Given the description of an element on the screen output the (x, y) to click on. 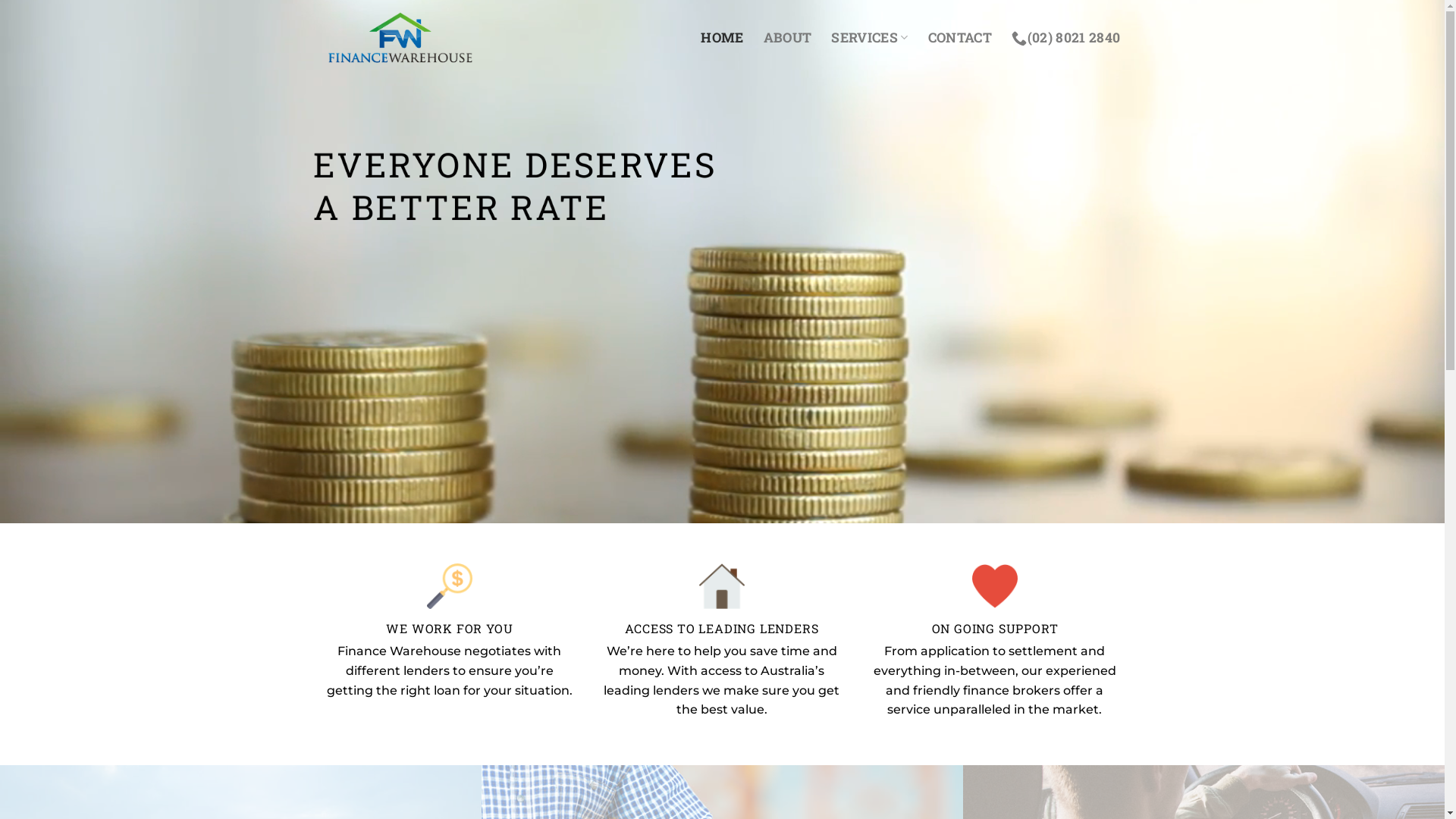
(02) 8021 2840 Element type: text (1065, 37)
SERVICES Element type: text (869, 37)
Finance Warehouse - Finance Brokers & Home Loan Specialists Element type: hover (400, 37)
CONTACT Element type: text (959, 37)
HOME Element type: text (721, 37)
ABOUT Element type: text (787, 37)
Skip to content Element type: text (0, 0)
